Given the description of an element on the screen output the (x, y) to click on. 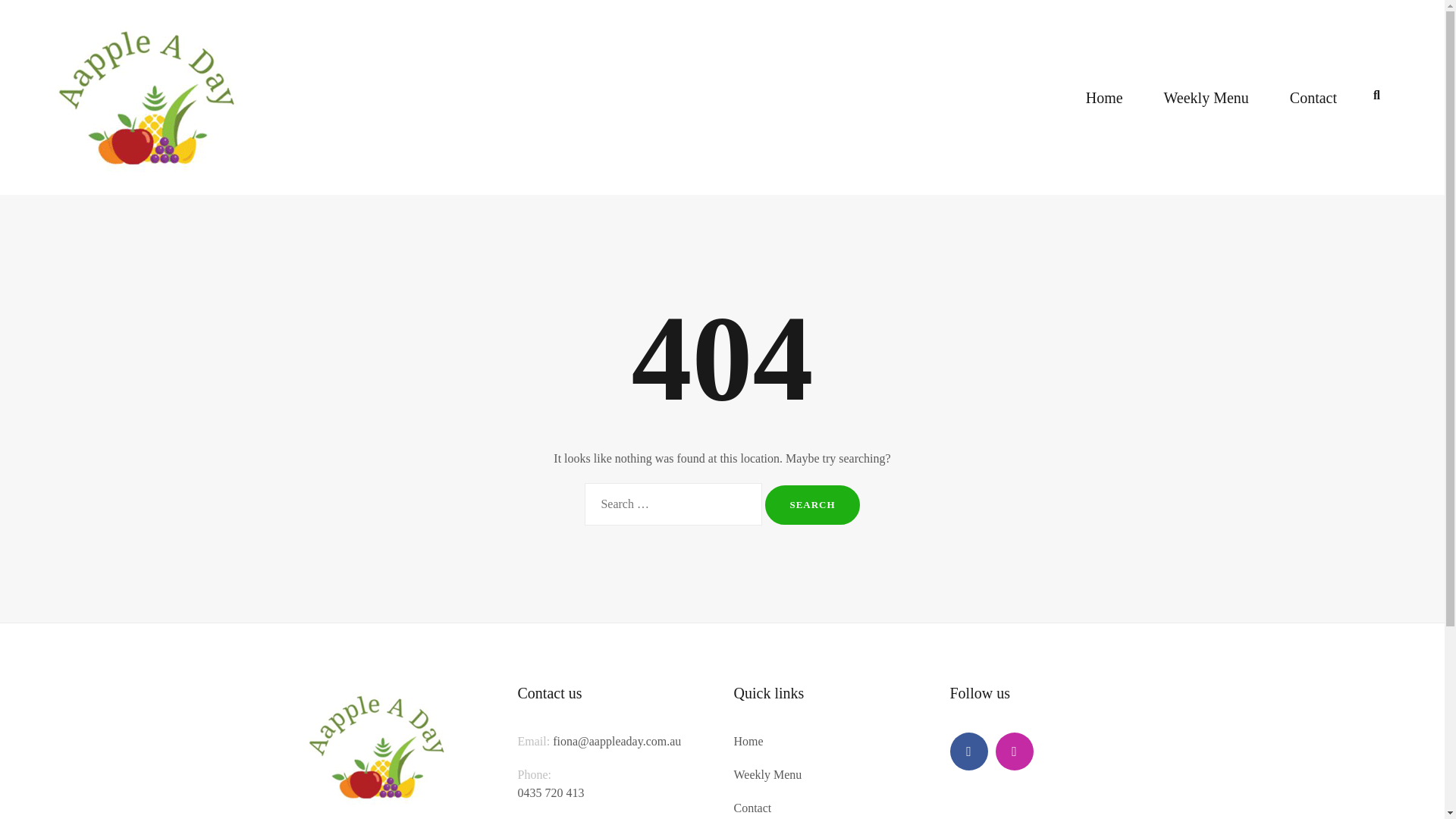
Weekly Menu Element type: text (768, 774)
Contact Element type: text (752, 807)
Instagram Element type: text (1013, 751)
Search Element type: text (812, 504)
Home Element type: text (1104, 97)
0435 720 413 Element type: text (550, 801)
Weekly Menu Element type: text (1206, 97)
Contact Element type: text (1312, 97)
Home Element type: text (748, 740)
fiona@aappleaday.com.au Element type: text (616, 740)
Facebook Element type: text (968, 751)
